Given the description of an element on the screen output the (x, y) to click on. 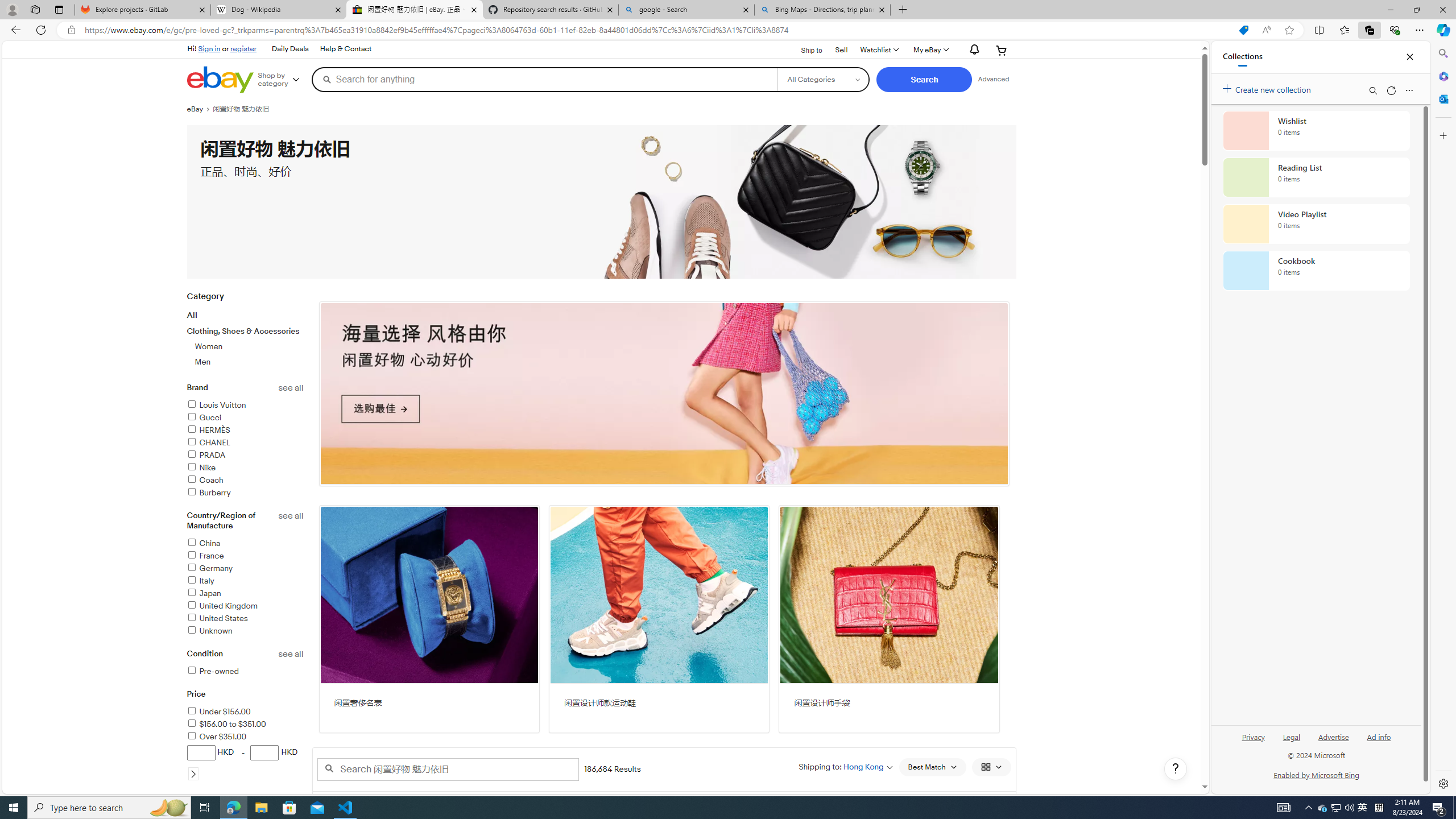
Gucci (203, 417)
Daily Deals (289, 49)
Sign in (209, 48)
Japan (203, 593)
Cookbook collection, 0 items (1316, 270)
Wishlist collection, 0 items (1316, 130)
My eBayExpand My eBay (930, 49)
CHANEL (208, 442)
Burberry (208, 492)
Clothing, Shoes & AccessoriesWomenMen (245, 346)
